Given the description of an element on the screen output the (x, y) to click on. 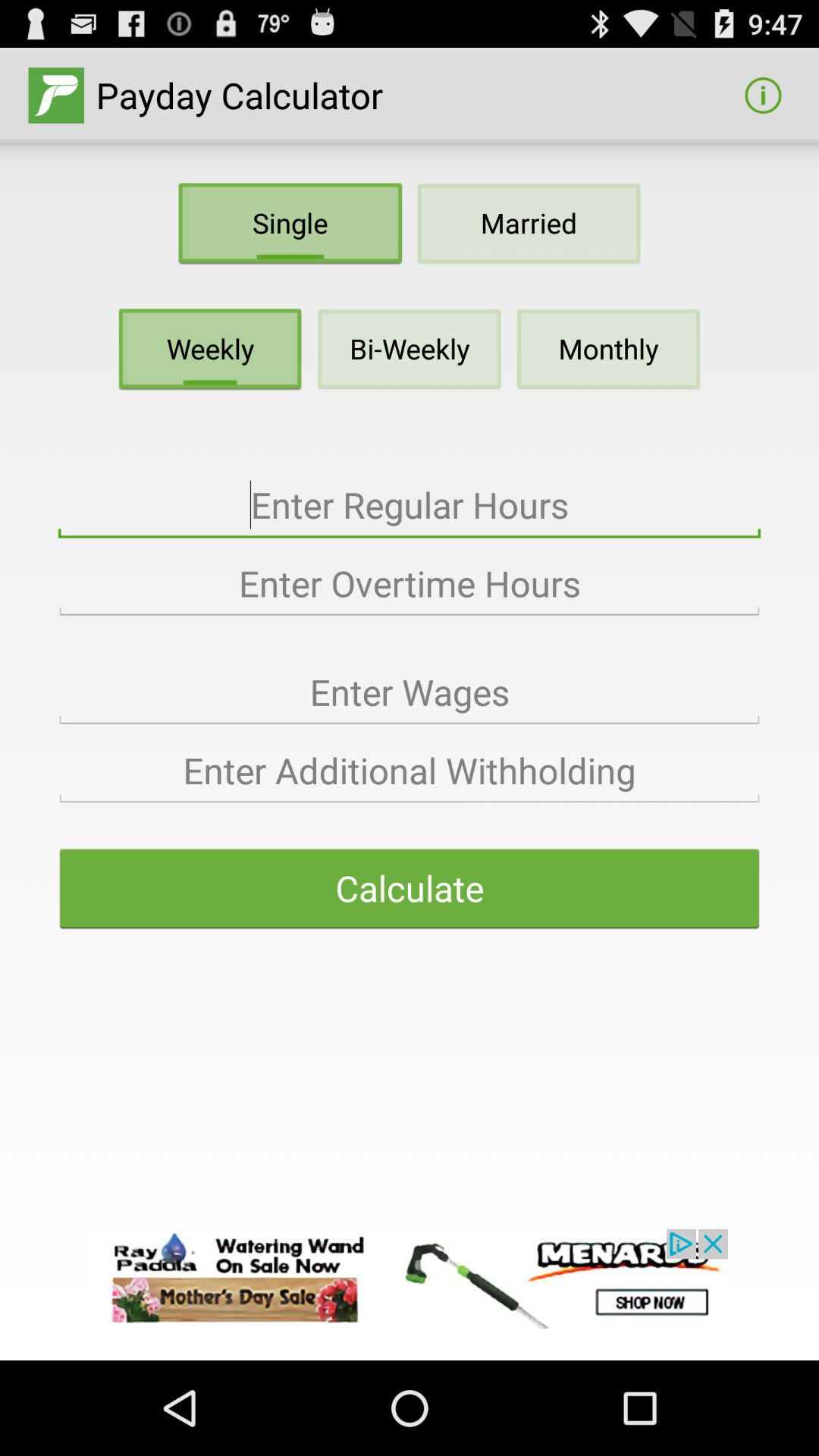
5 (409, 770)
